Given the description of an element on the screen output the (x, y) to click on. 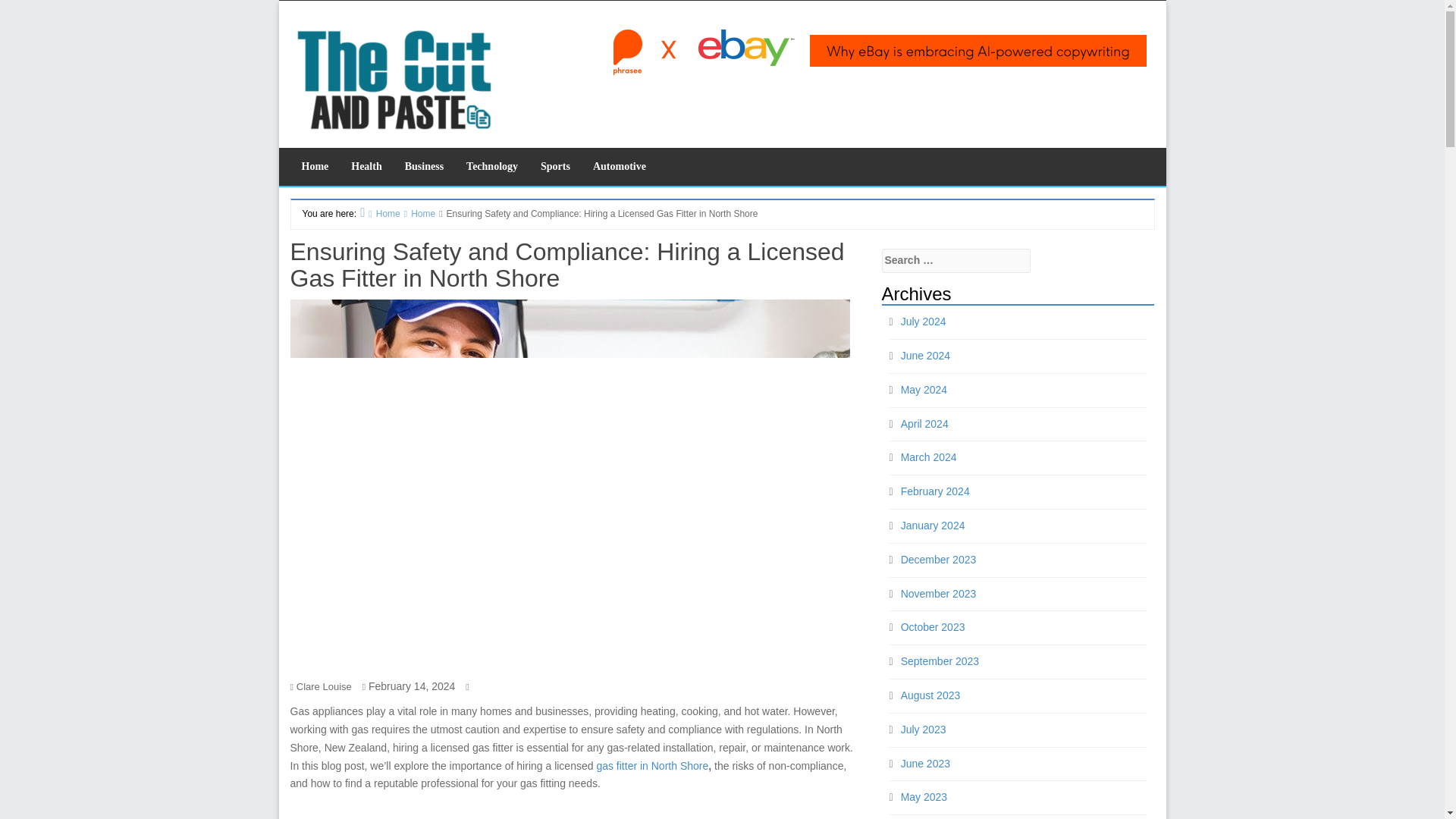
Automotive (619, 166)
November 2023 (938, 593)
January 2024 (933, 525)
Home (379, 212)
July 2023 (923, 729)
February 2024 (935, 491)
Home (314, 166)
Home (417, 213)
Health (366, 166)
gas fitter in North Shore (651, 766)
Health (366, 166)
April 2024 (925, 423)
September 2023 (940, 661)
Automotive (619, 166)
Clare Louise (324, 686)
